Given the description of an element on the screen output the (x, y) to click on. 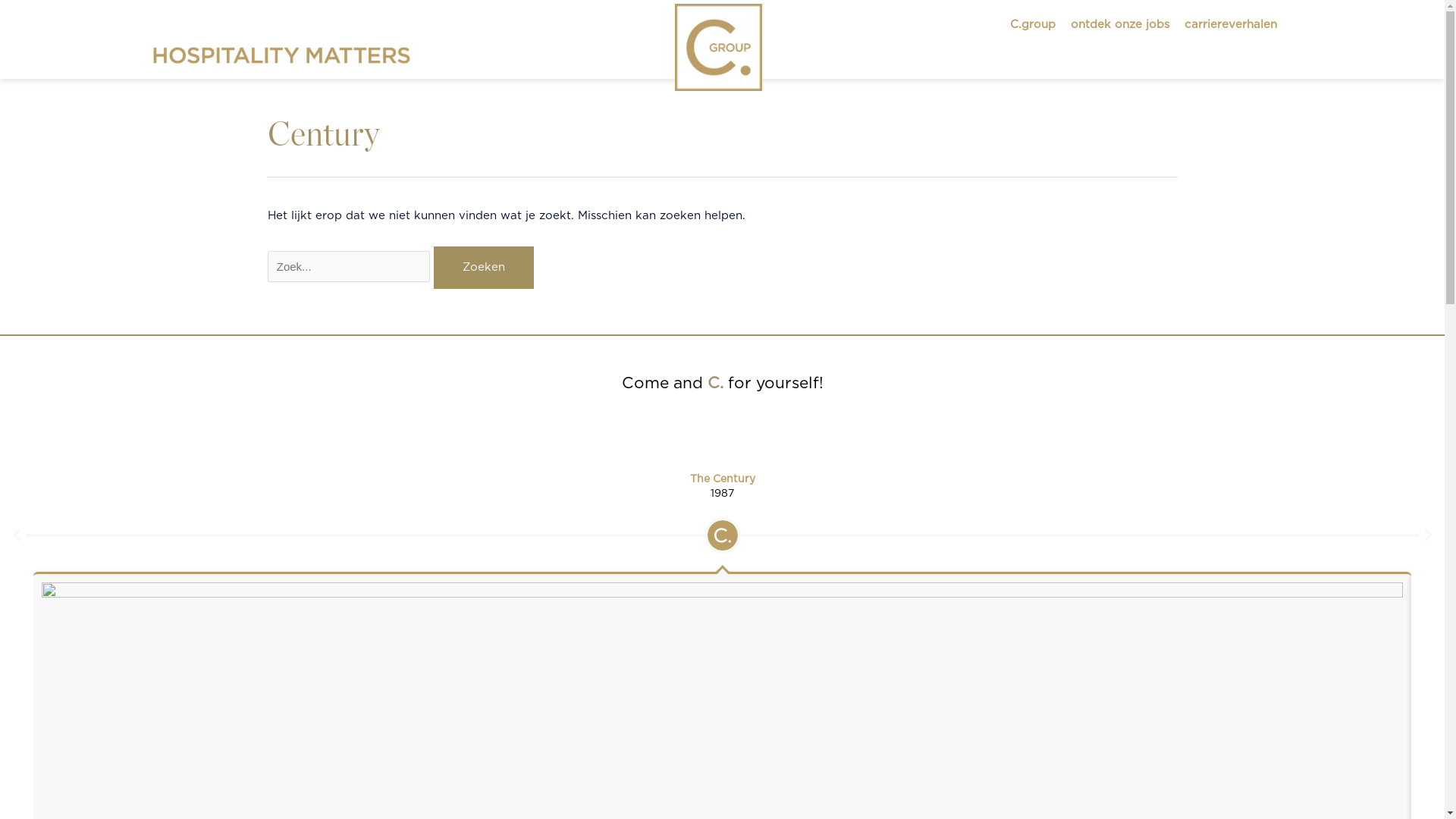
C.group Element type: text (1032, 24)
ontdek onze jobs Element type: text (1119, 24)
carriereverhalen Element type: text (1230, 24)
Zoeken Element type: text (483, 267)
